Given the description of an element on the screen output the (x, y) to click on. 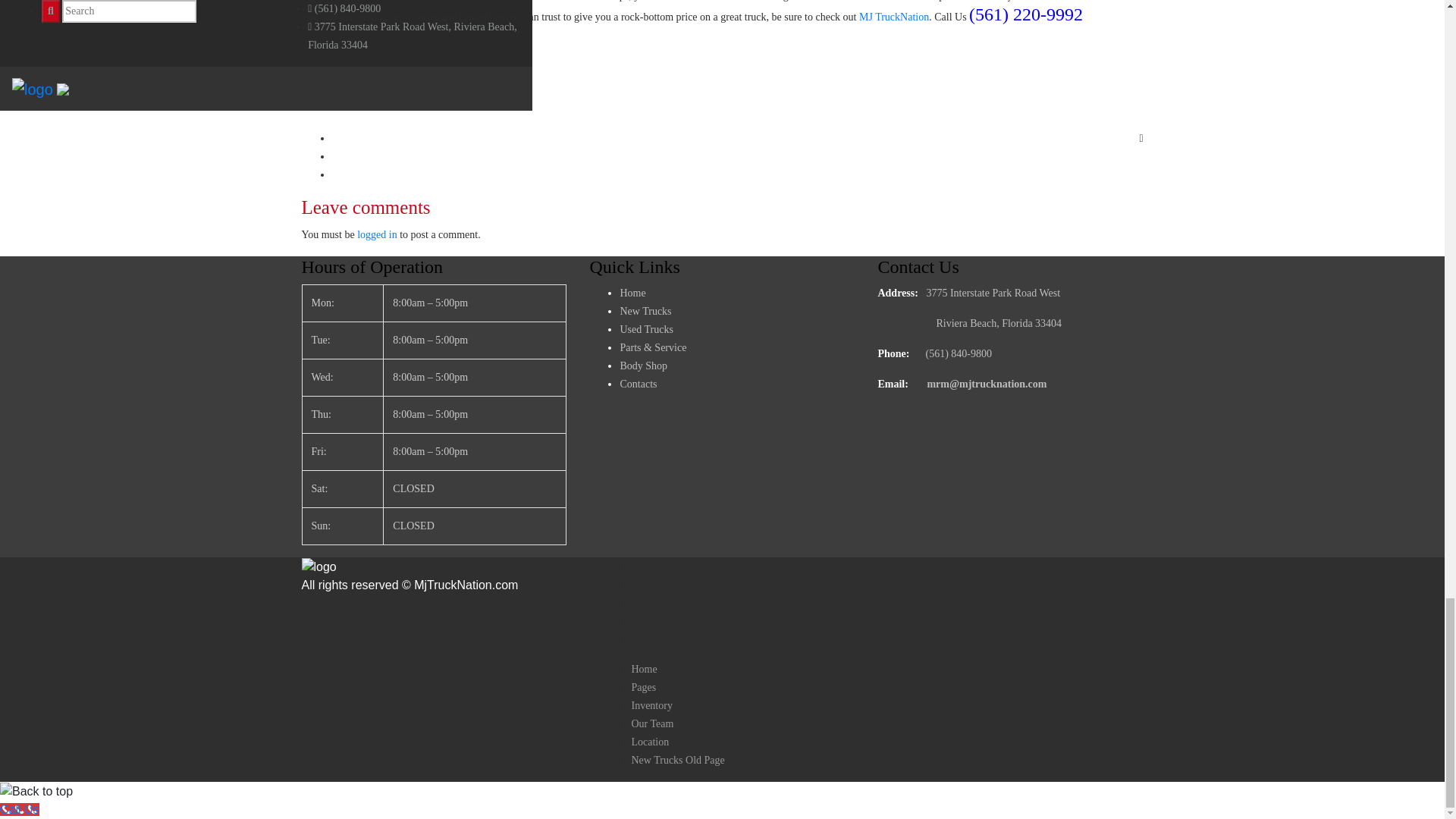
Share link on Facebook (521, 138)
Share image on Pinterest (521, 157)
Share link on Twitter (521, 175)
